Given the description of an element on the screen output the (x, y) to click on. 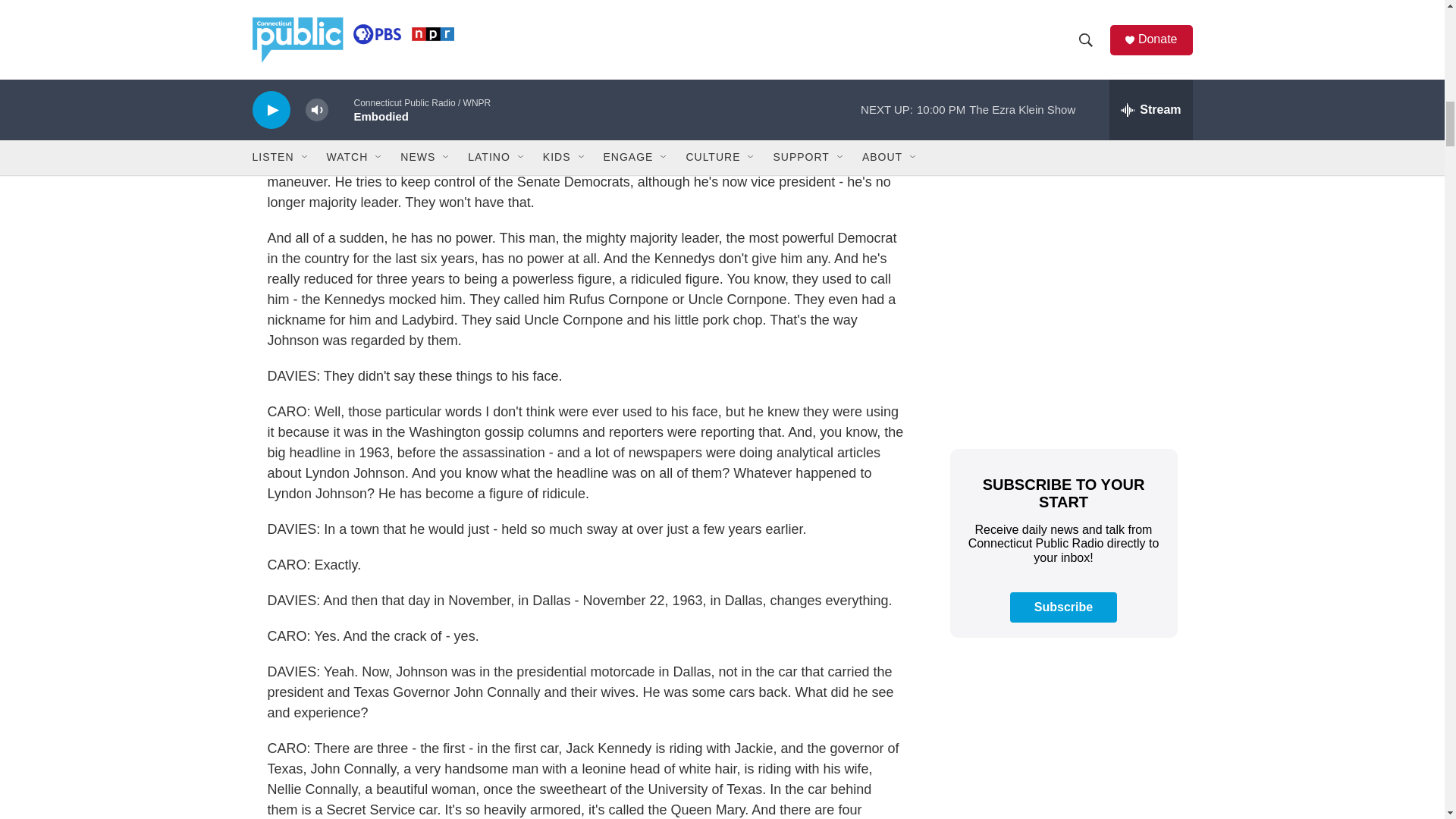
3rd party ad content (1062, 743)
3rd party ad content (1062, 104)
3rd party ad content (1062, 323)
